Given the description of an element on the screen output the (x, y) to click on. 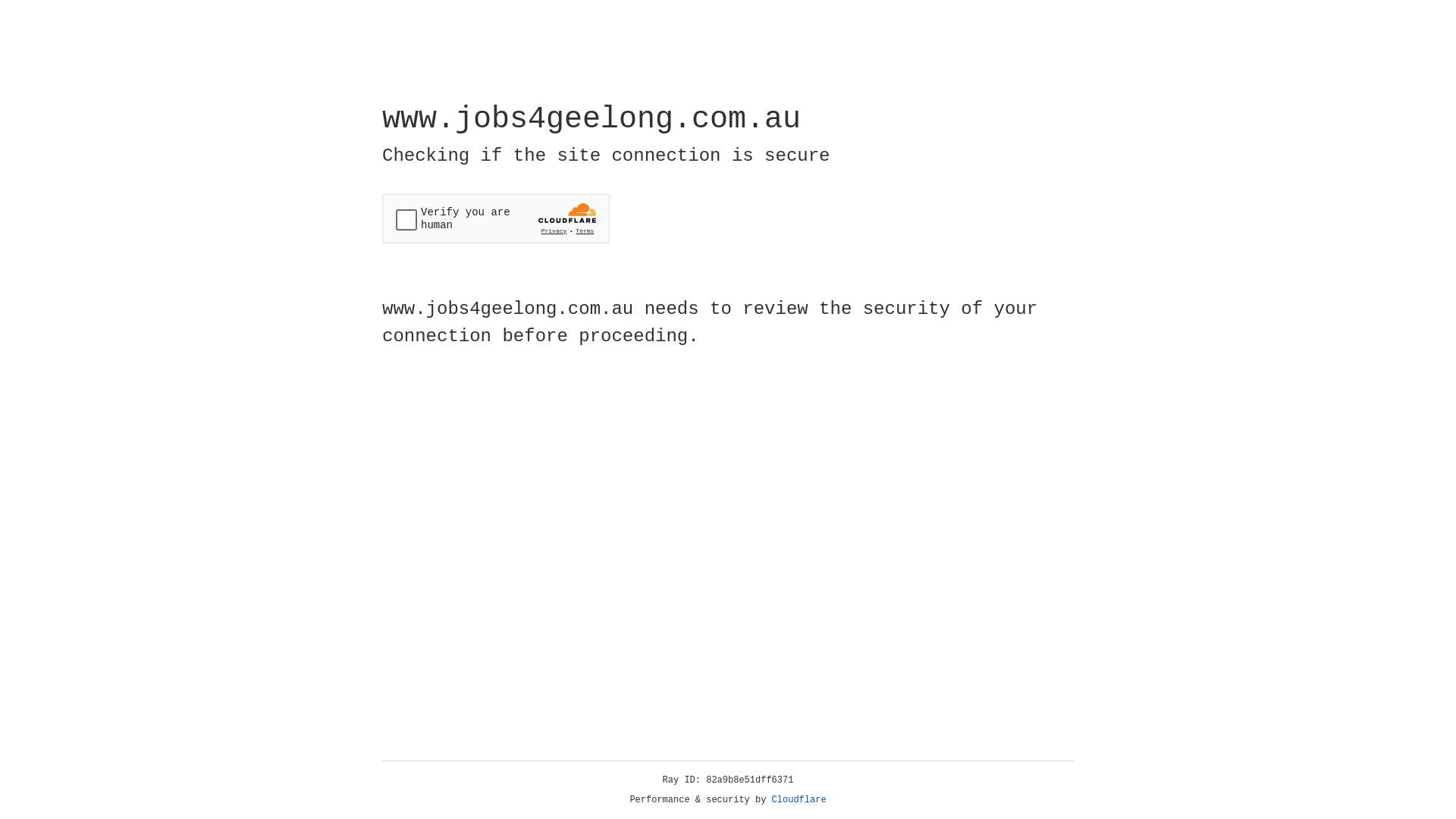
Cloudflare Element type: text (798, 799)
Widget containing a Cloudflare security challenge Element type: hover (495, 218)
